Given the description of an element on the screen output the (x, y) to click on. 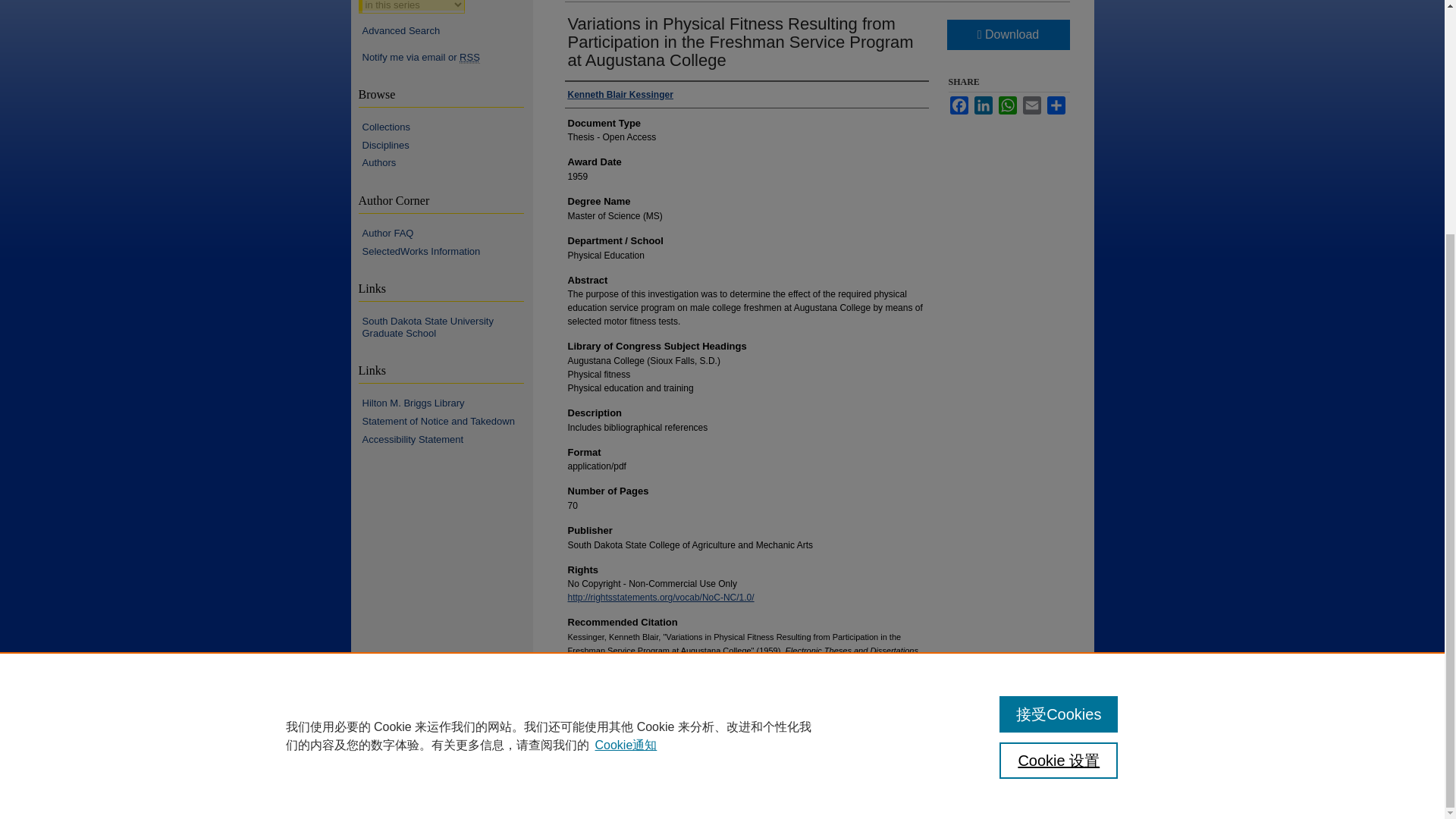
South Dakota State University Graduate School (447, 327)
Browse by Author (447, 162)
Advanced Search (401, 30)
Hilton M. Briggs Library (447, 403)
Email or RSS Notifications (447, 57)
Disciplines (447, 145)
Collections (447, 127)
Download (1007, 34)
Authors (447, 162)
Browse by Disciplines (447, 145)
Notify me via email or RSS (447, 57)
Kenneth Blair Kessinger (619, 94)
Facebook (958, 105)
WhatsApp (1006, 105)
LinkedIn (982, 105)
